Given the description of an element on the screen output the (x, y) to click on. 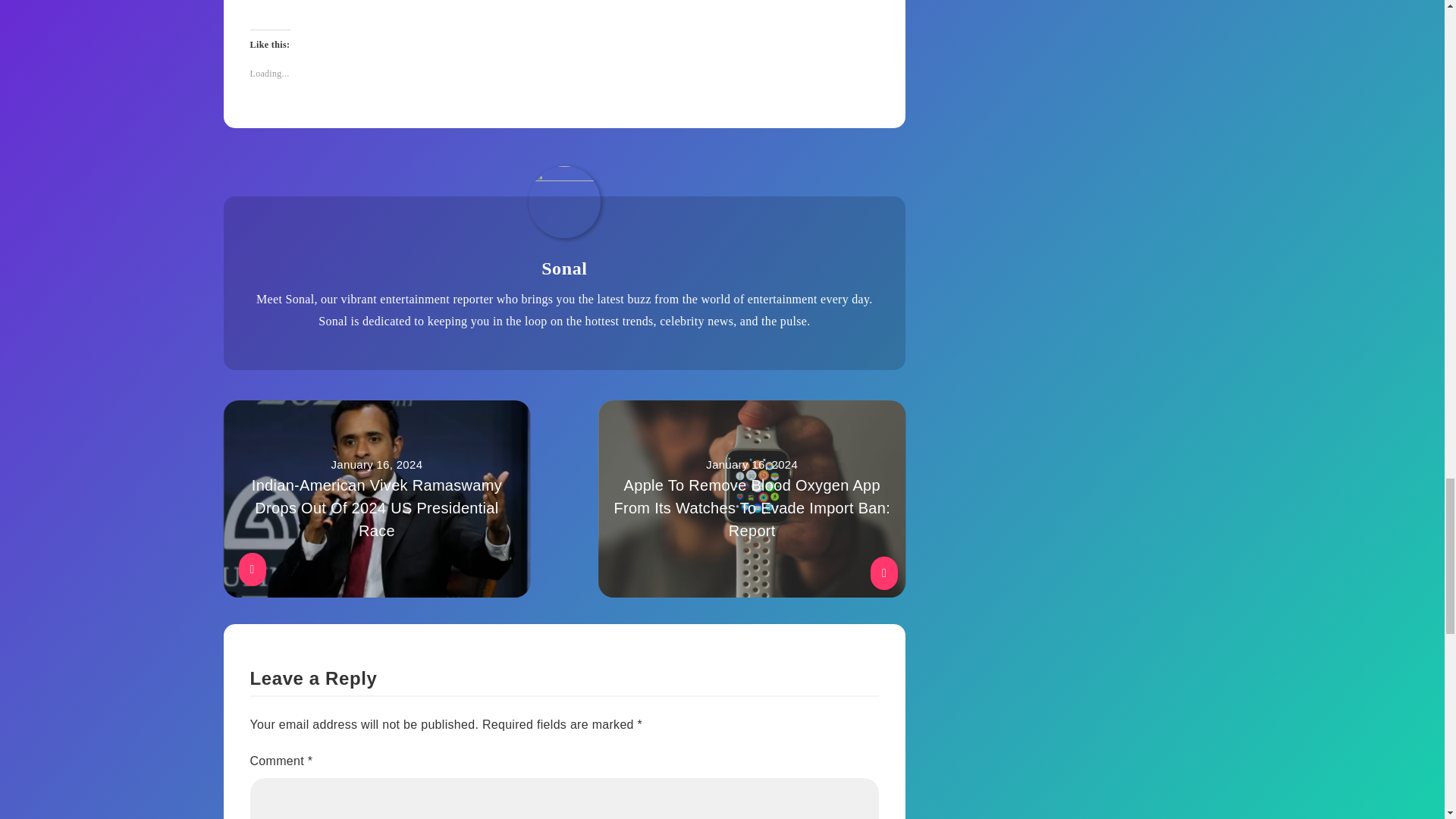
Sonal (563, 268)
